Given the description of an element on the screen output the (x, y) to click on. 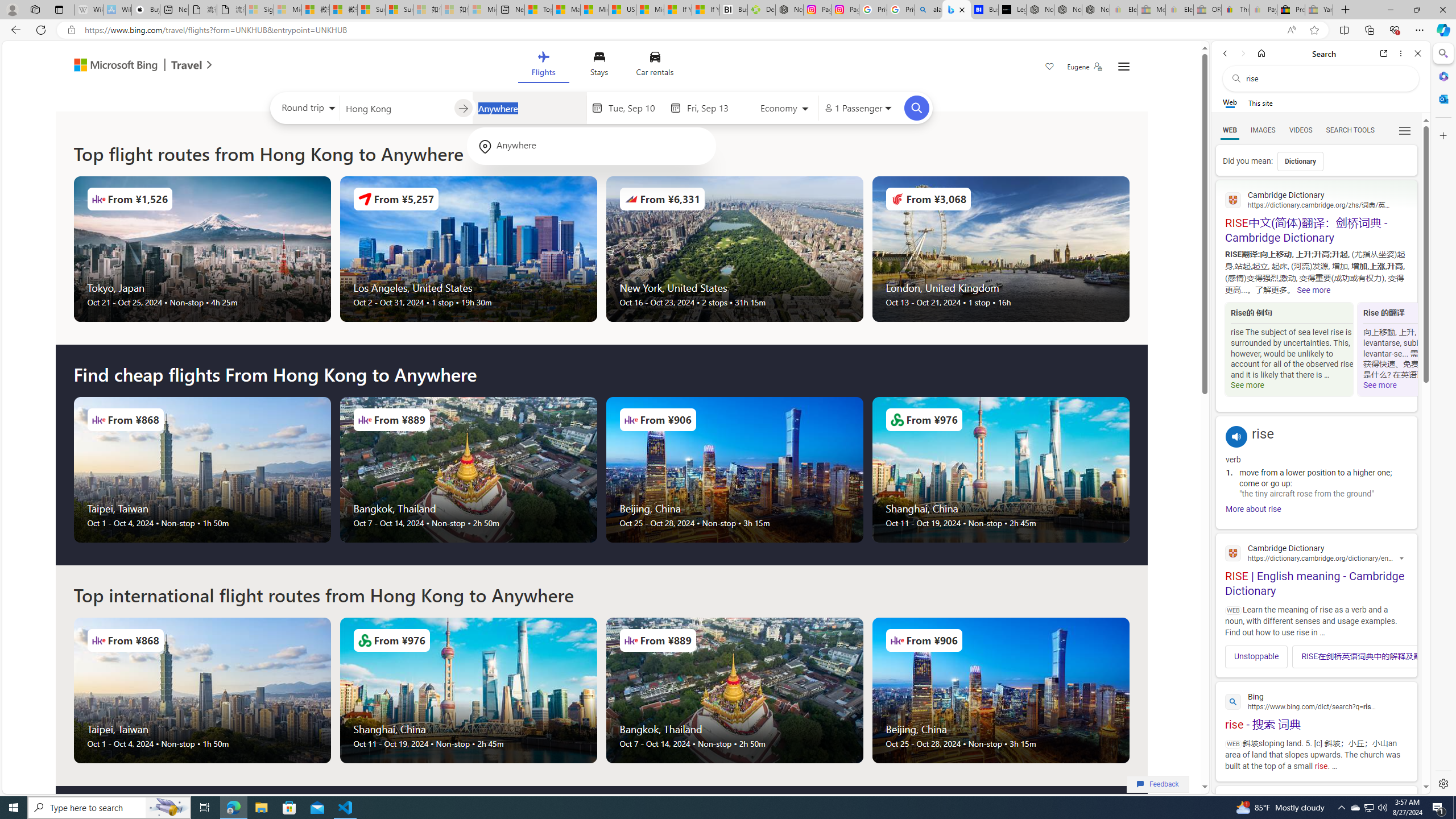
pronounce (1236, 436)
Dictionary (1299, 161)
Unstoppable (1256, 656)
More about rise (1253, 508)
